Given the description of an element on the screen output the (x, y) to click on. 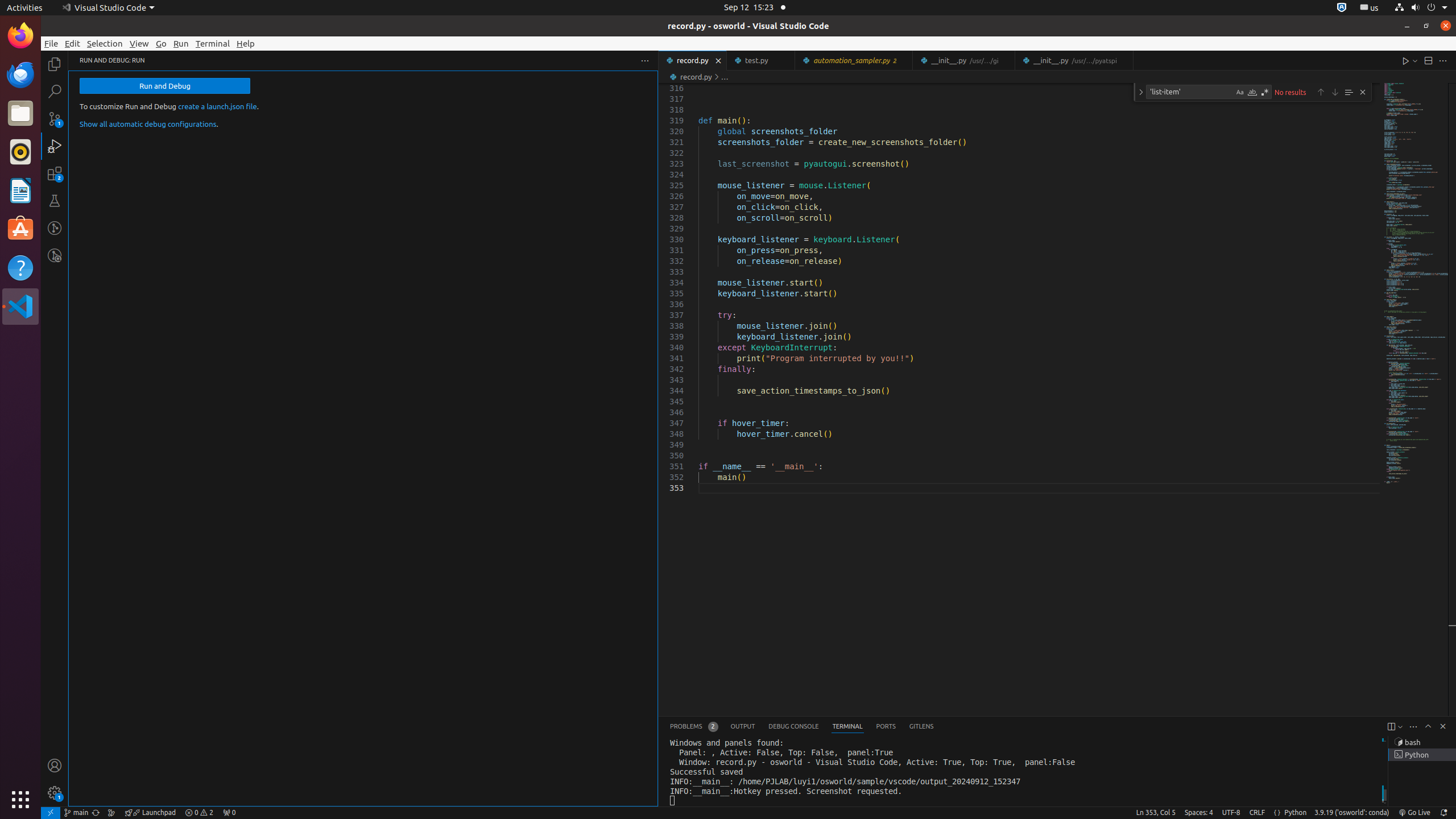
Notifications Element type: push-button (1443, 812)
Run or Debug... Element type: push-button (1414, 60)
Use Regular Expression (Alt+R) Element type: check-box (1264, 91)
rocket gitlens-unplug Launchpad, GitLens Launchpad ᴘʀᴇᴠɪᴇᴡ    &mdash;    [$(question)](command:gitlens.launchpad.indicator.action?%22info%22 "What is this?") [$(gear)](command:workbench.action.openSettings?%22gitlens.launchpad%22 "Settings")  |  [$(circle-slash) Hide](command:gitlens.launchpad.indicator.action?%22hide%22 "Hide") --- [Launchpad](command:gitlens.launchpad.indicator.action?%info%22 "Learn about Launchpad") organizes your pull requests into actionable groups to help you focus and keep your team unblocked. It's always accessible using the `GitLens: Open Launchpad` command from the Command Palette. --- [Connect an integration](command:gitlens.showLaunchpad?%7B%22source%22%3A%22launchpad-indicator%22%7D "Connect an integration") to get started. Element type: push-button (150, 812)
